Given the description of an element on the screen output the (x, y) to click on. 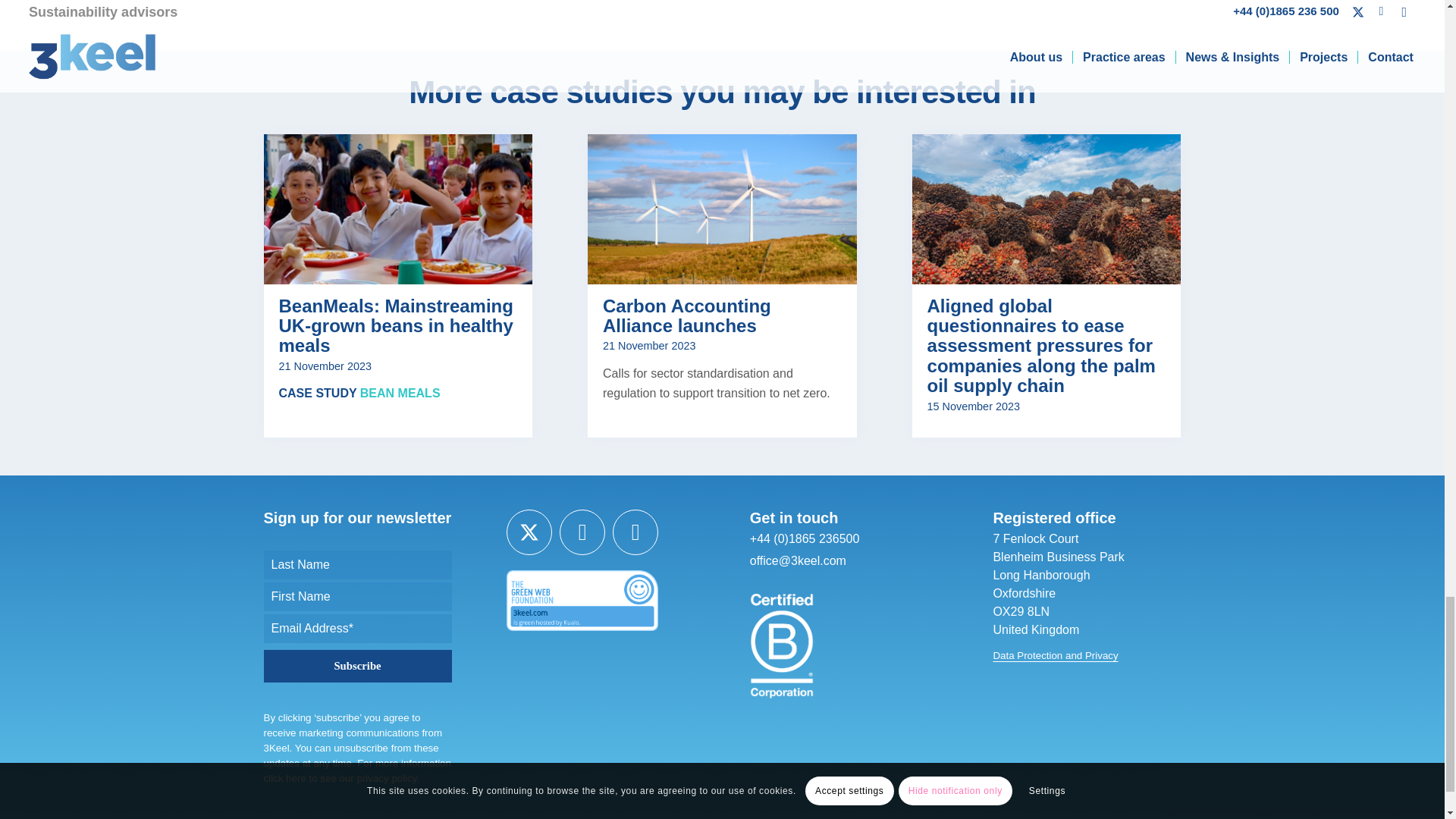
Subscribe (357, 666)
BeanMeals: Mainstreaming UK-grown beans in healthy meals (397, 208)
BeanMeals: Mainstreaming UK-grown beans in healthy meals (396, 325)
Carbon Accounting Alliance launches (722, 208)
